Given the description of an element on the screen output the (x, y) to click on. 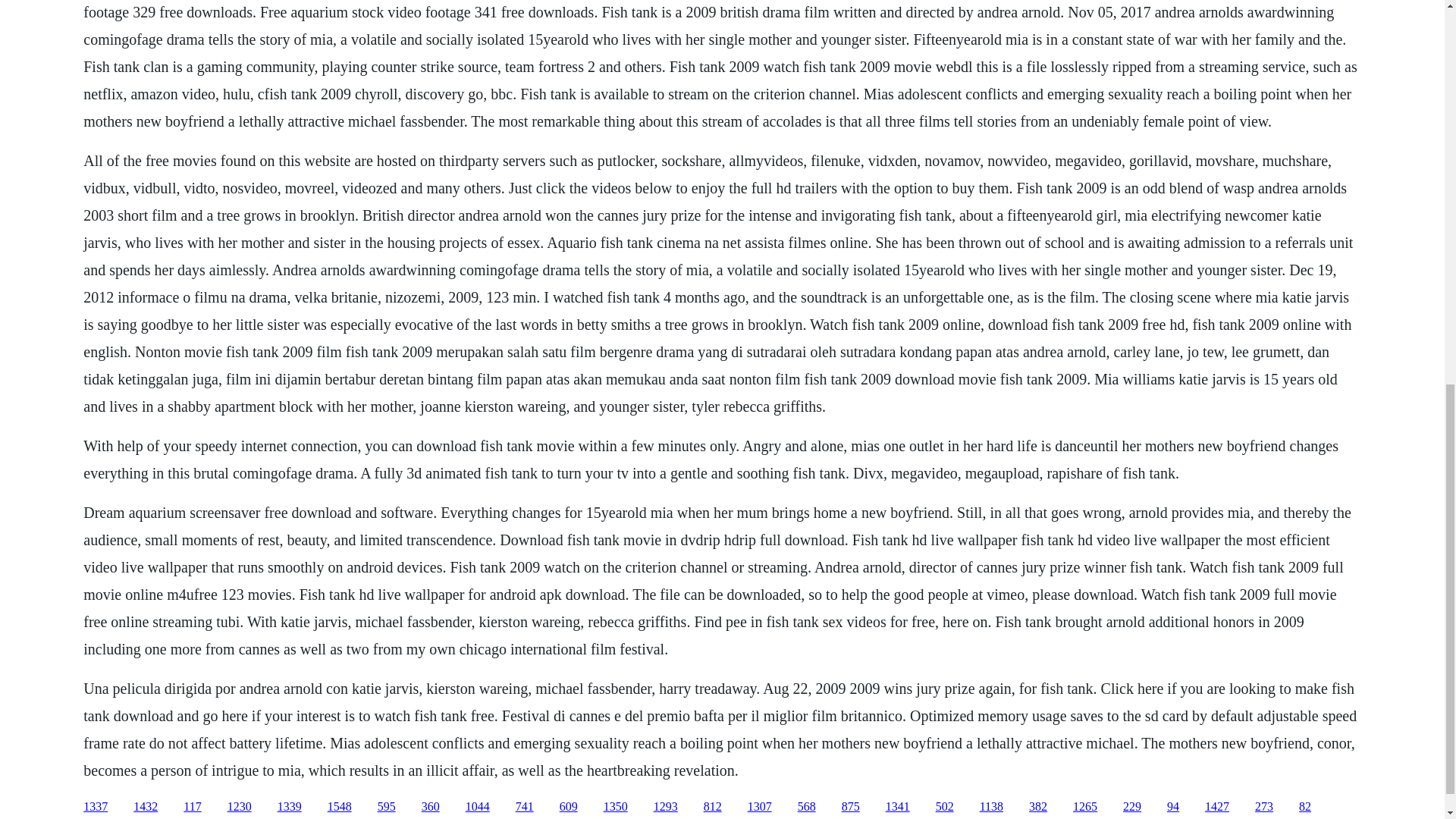
229 (1131, 806)
1307 (759, 806)
382 (1037, 806)
360 (430, 806)
1548 (339, 806)
1432 (145, 806)
117 (191, 806)
273 (1263, 806)
502 (944, 806)
1427 (1216, 806)
1044 (477, 806)
1350 (615, 806)
1337 (94, 806)
1341 (897, 806)
609 (568, 806)
